Given the description of an element on the screen output the (x, y) to click on. 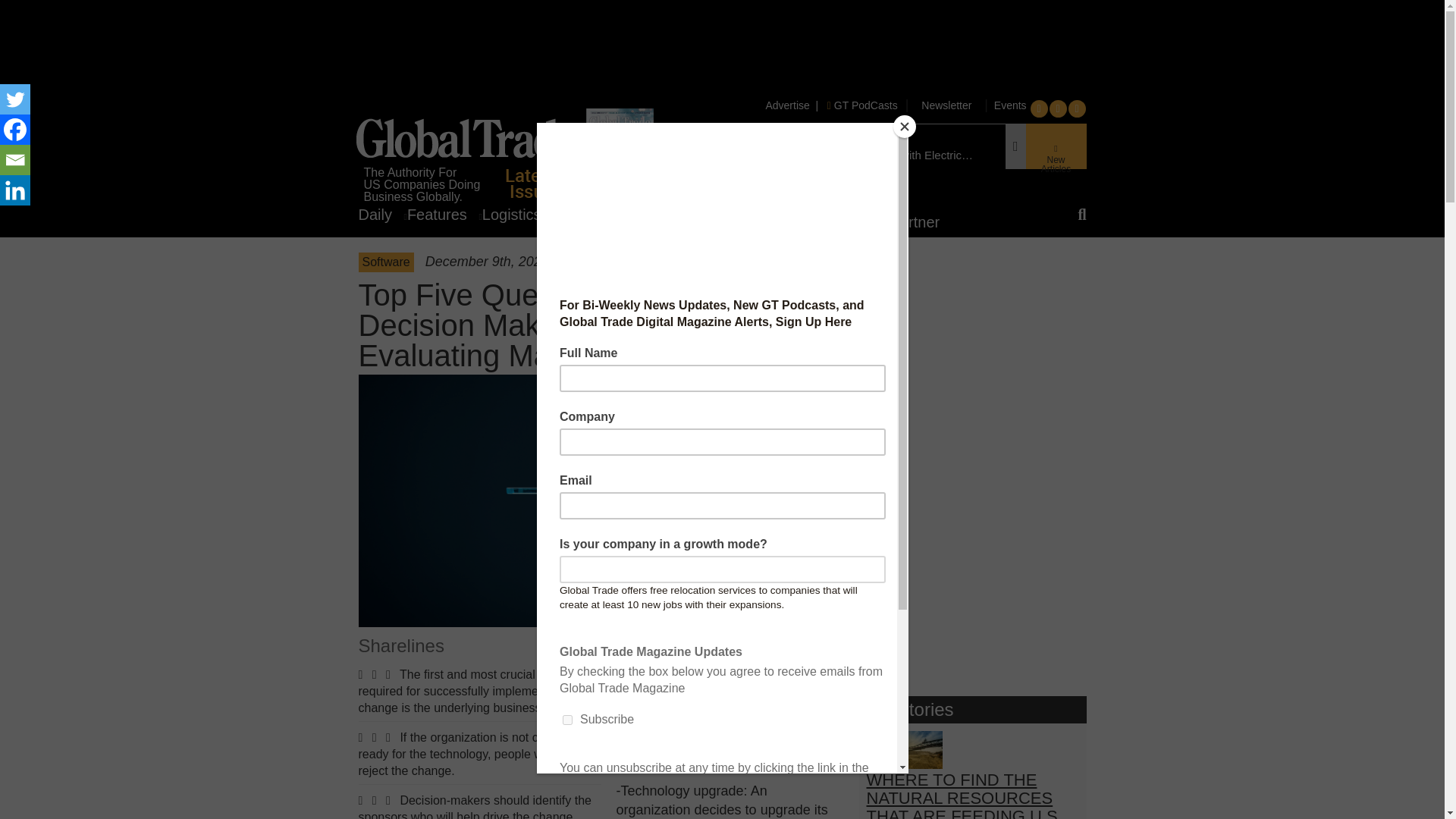
Newsletter (945, 105)
GT PodCasts (862, 105)
Facebook (15, 129)
Email (15, 159)
Daily (382, 214)
Twitter (15, 99)
  Events  (1008, 105)
Linkedin (15, 190)
Hide (5, 219)
